Given the description of an element on the screen output the (x, y) to click on. 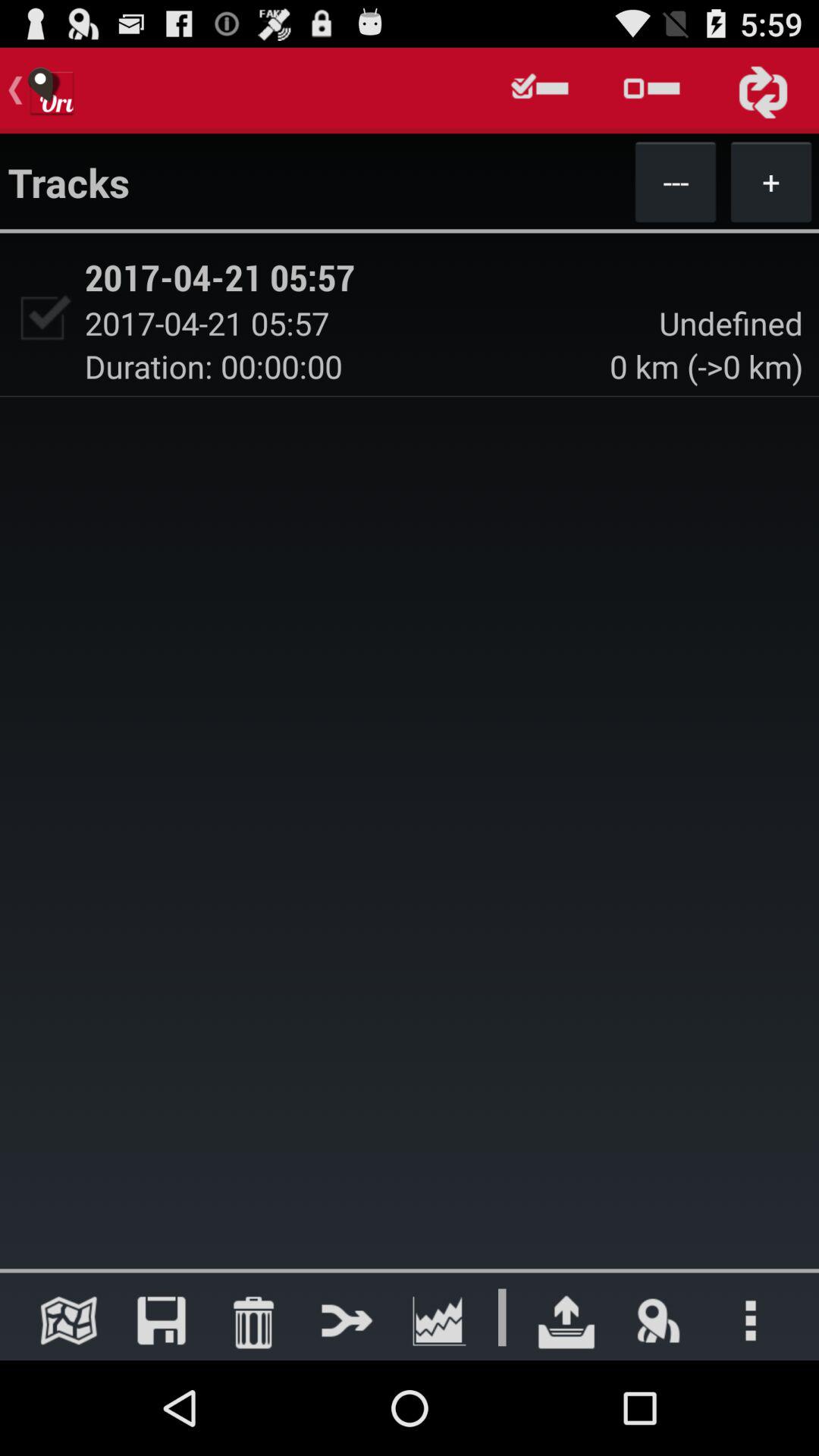
choose item next to --- button (771, 181)
